Given the description of an element on the screen output the (x, y) to click on. 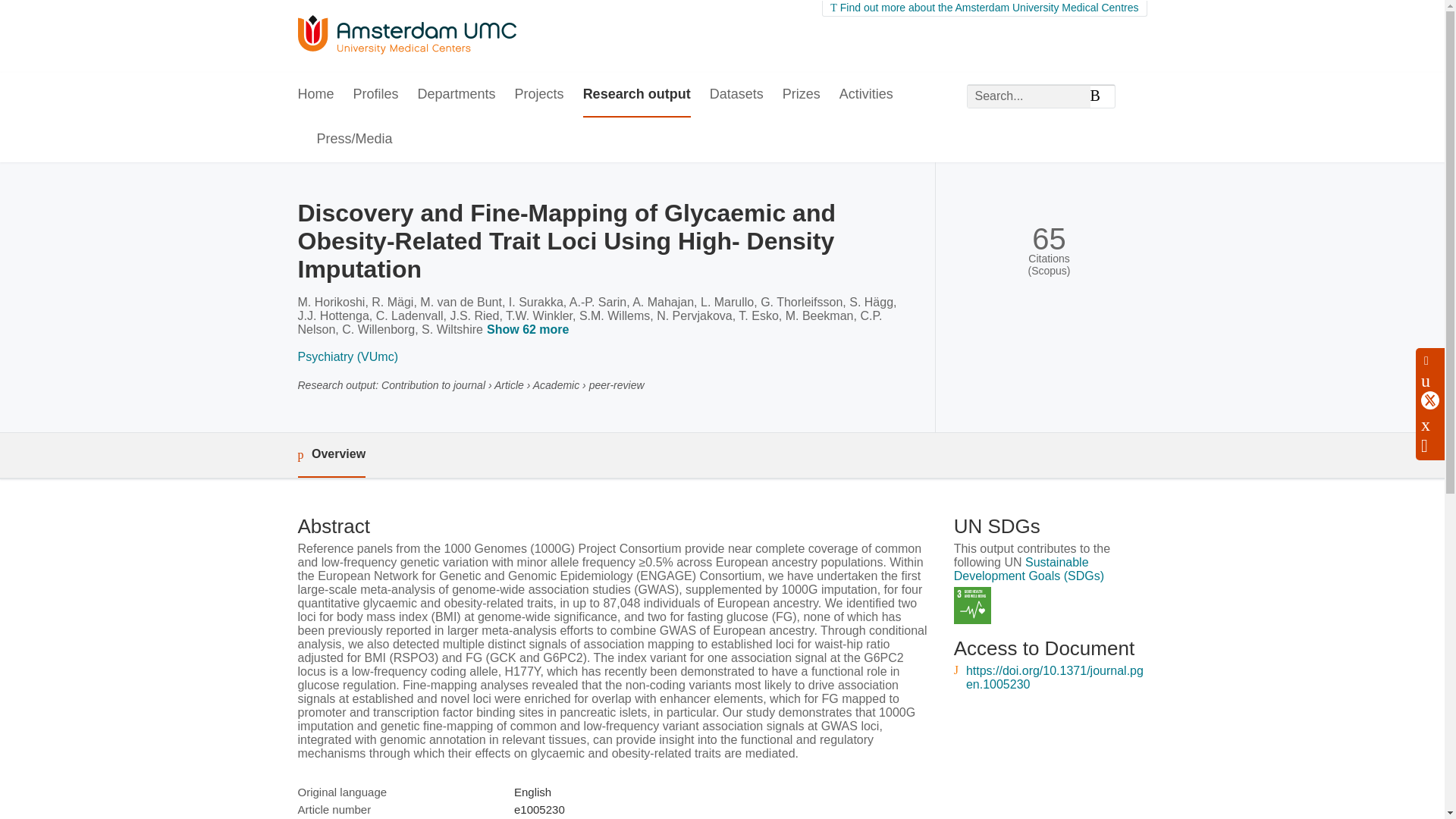
Departments (456, 94)
Home (315, 94)
Show 62 more (530, 330)
Research output (636, 94)
SDG 3 - Good Health and Well-being (972, 605)
Projects (539, 94)
Find out more about the Amsterdam University Medical Centres (983, 7)
Overview (331, 455)
Amsterdam UMC research portal Home (406, 36)
Profiles (375, 94)
Activities (866, 94)
Datasets (736, 94)
Prizes (802, 94)
